Given the description of an element on the screen output the (x, y) to click on. 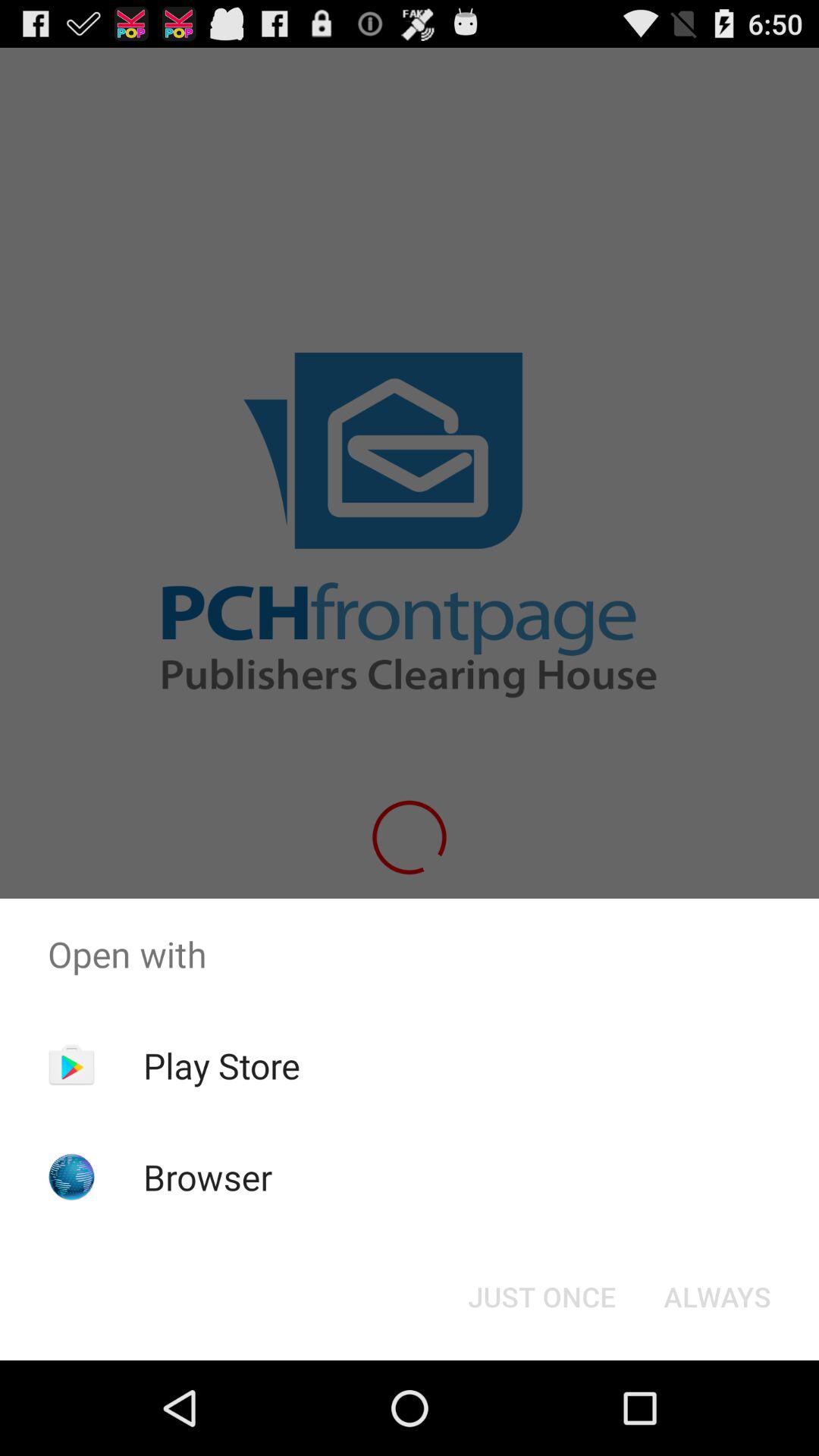
press icon to the left of the always (541, 1296)
